Given the description of an element on the screen output the (x, y) to click on. 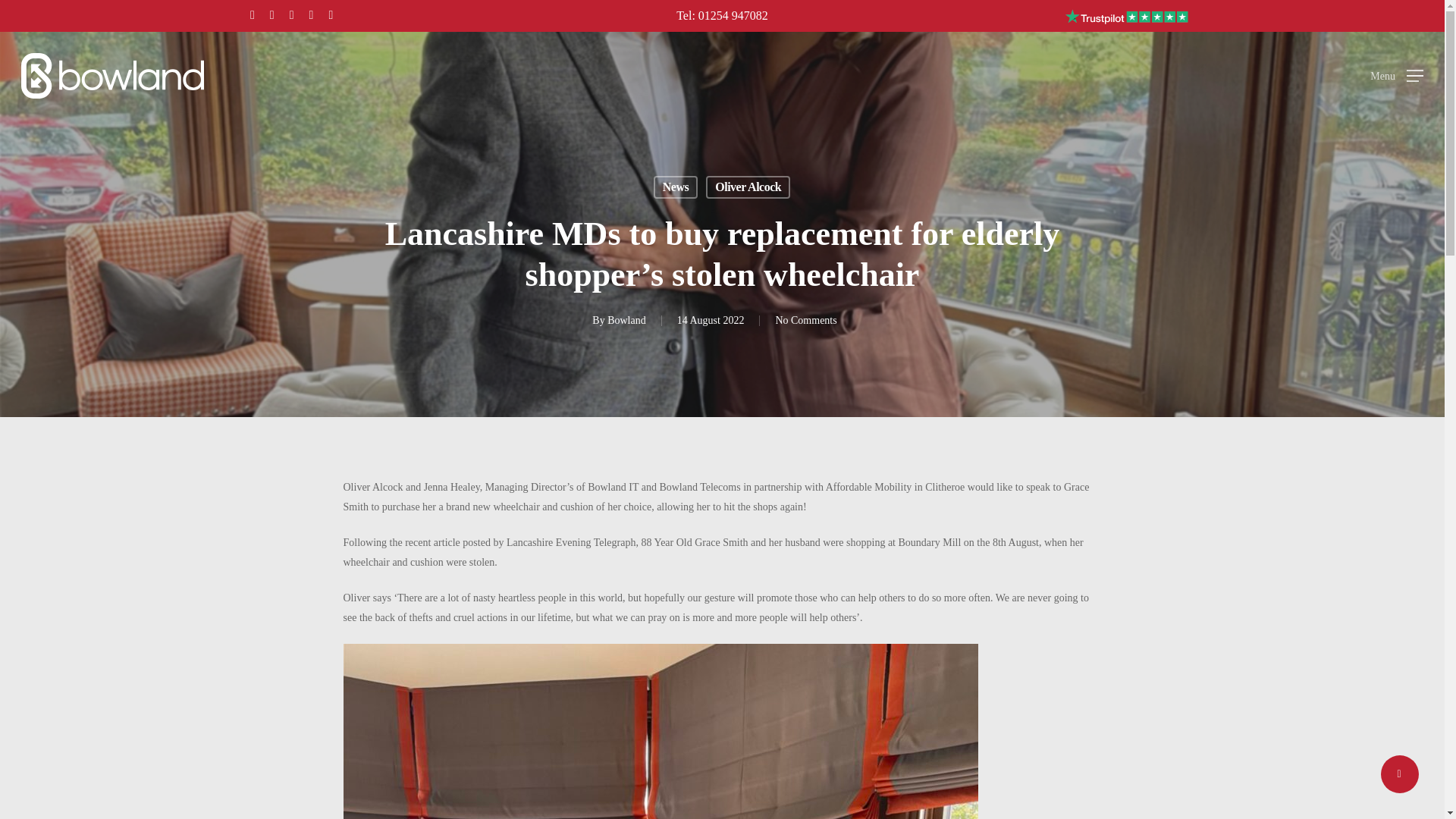
Posts by Bowland (626, 319)
No Comments (804, 319)
News (675, 187)
Bowland (626, 319)
Oliver Alcock (748, 187)
Tel: 01254 947082 (722, 15)
Menu (1396, 75)
